Given the description of an element on the screen output the (x, y) to click on. 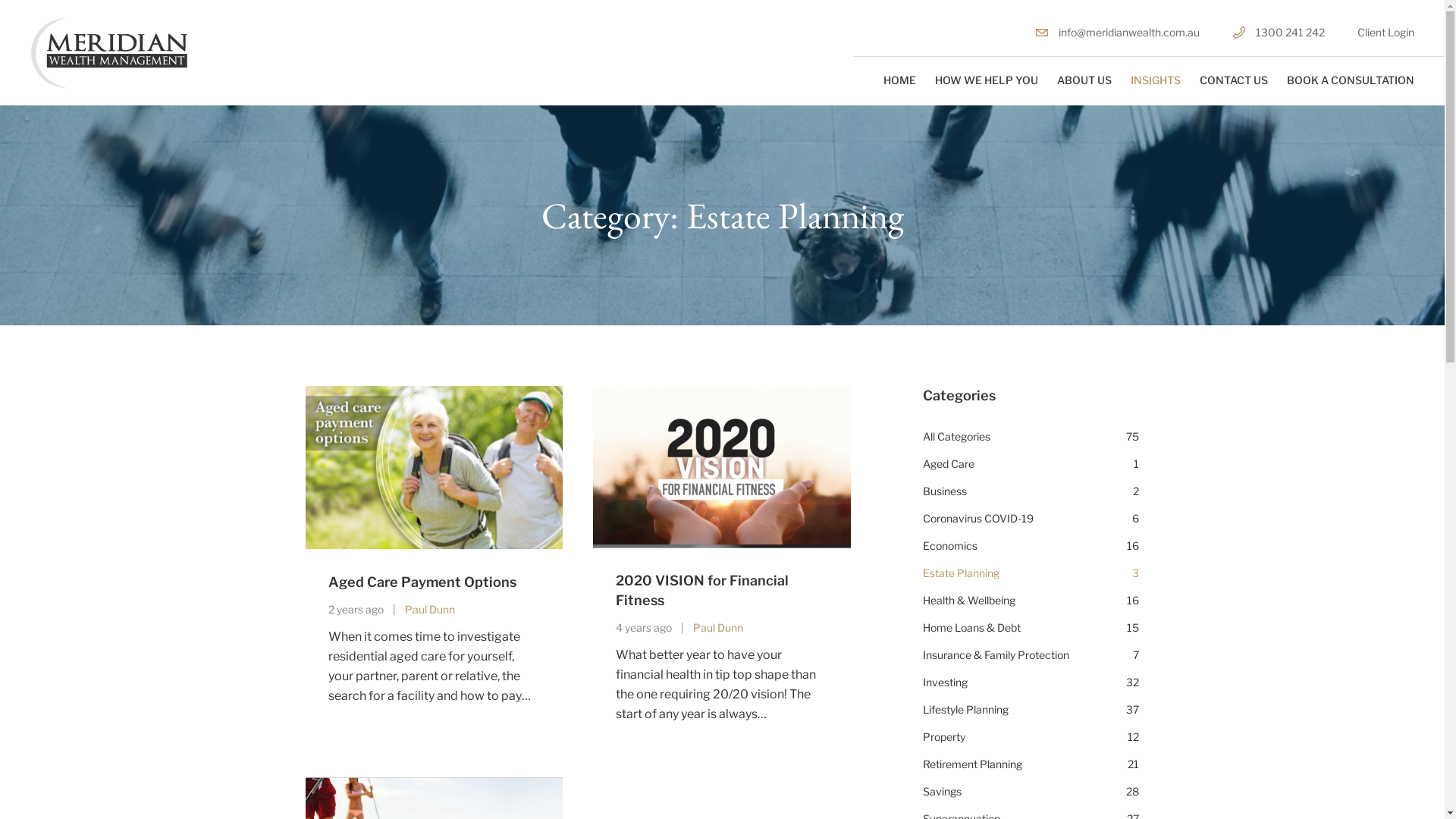
2020 VISION for Financial Fitness Element type: text (701, 590)
ABOUT US Element type: text (1084, 80)
Insurance & Family Protection
7 Element type: text (1030, 654)
Paul Dunn Element type: text (429, 608)
Client Login Element type: text (1385, 31)
Coronavirus COVID-19
6 Element type: text (1030, 518)
Savings
28 Element type: text (1030, 791)
Economics
16 Element type: text (1030, 545)
Aged Care
1 Element type: text (1030, 463)
Home Loans & Debt
15 Element type: text (1030, 627)
Business
2 Element type: text (1030, 491)
Lifestyle Planning
37 Element type: text (1030, 709)
info@meridianwealth.com.au Element type: text (1117, 31)
HOME Element type: text (899, 80)
HOW WE HELP YOU Element type: text (986, 80)
Investing
32 Element type: text (1030, 682)
Paul Dunn Element type: text (718, 627)
BOOK A CONSULTATION Element type: text (1350, 80)
Property
12 Element type: text (1030, 736)
CONTACT US Element type: text (1233, 80)
Estate Planning
3 Element type: text (1030, 572)
All Categories
75 Element type: text (1030, 436)
1300 241 242 Element type: text (1278, 31)
Retirement Planning
21 Element type: text (1030, 764)
INSIGHTS Element type: text (1155, 80)
Aged Care Payment Options Element type: text (421, 581)
Health & Wellbeing
16 Element type: text (1030, 600)
